Given the description of an element on the screen output the (x, y) to click on. 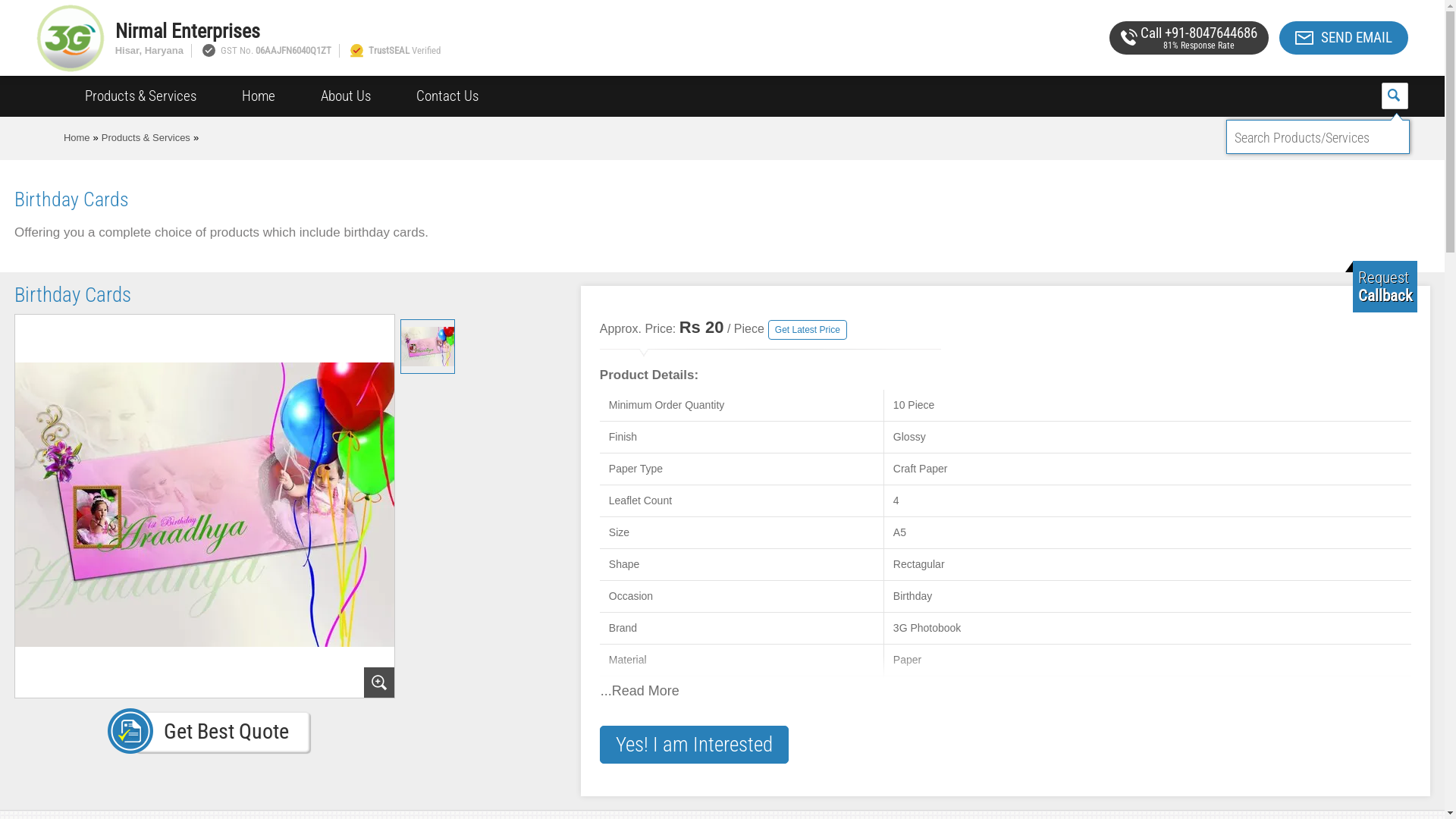
About Us Element type: text (345, 95)
Call +91-8047644686
81% Response Rate Element type: text (1188, 38)
  Element type: text (1394, 95)
...Read More Element type: text (997, 680)
SEND EMAIL Element type: text (1343, 37)
Contact Us Element type: text (447, 95)
Yes! I am Interested Element type: text (693, 744)
Get Best Quote Element type: text (208, 730)
Products & Services Element type: text (145, 137)
Nirmal Enterprises Element type: text (552, 30)
Get Latest Price Element type: text (807, 329)
Home Element type: text (258, 95)
Request
Callback Element type: text (1384, 286)
Home Element type: text (76, 137)
TrustSEAL Verified Element type: text (393, 49)
Products & Services Element type: text (140, 95)
